Given the description of an element on the screen output the (x, y) to click on. 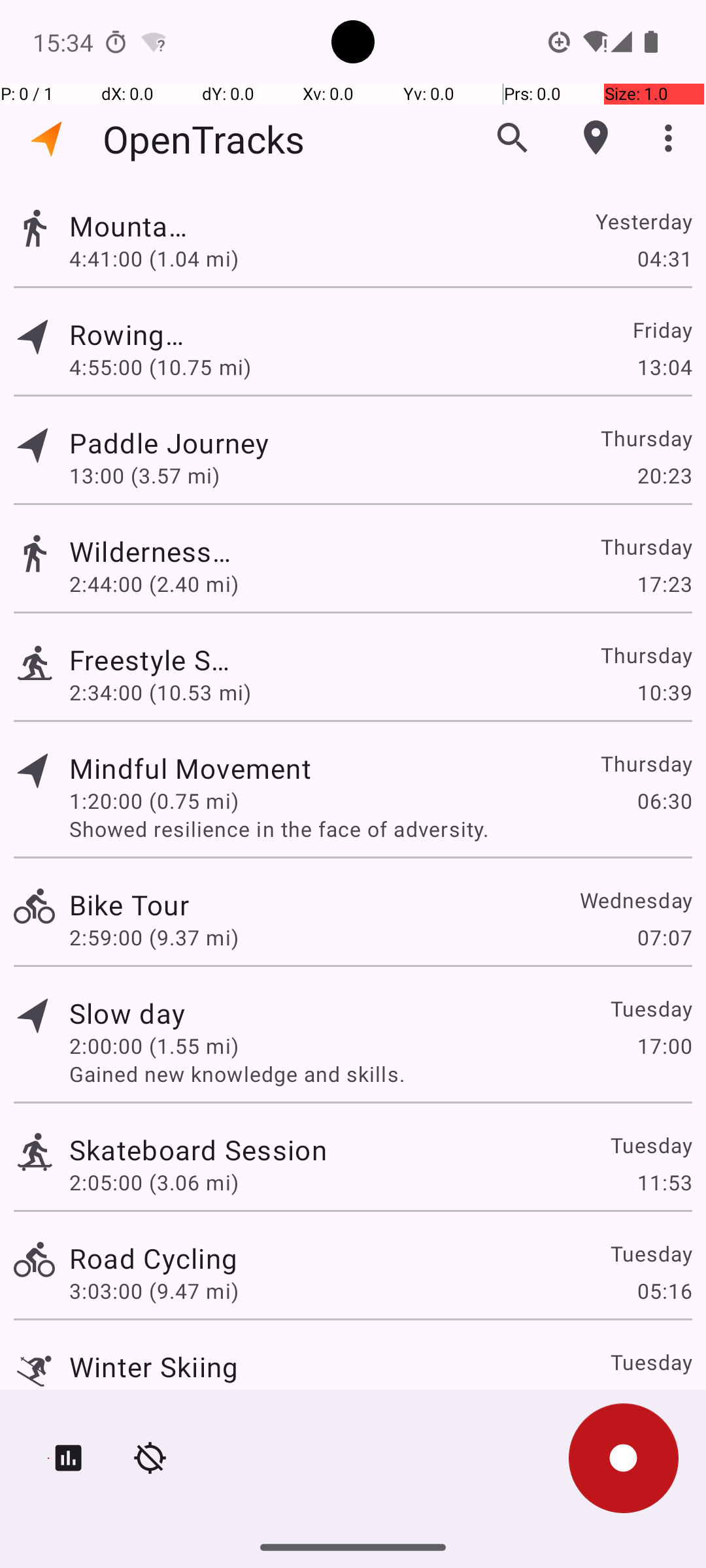
Mountain Trek Element type: android.widget.TextView (128, 225)
4:41:00 (1.04 mi) Element type: android.widget.TextView (153, 258)
04:31 Element type: android.widget.TextView (664, 258)
Rowing Excursion Element type: android.widget.TextView (126, 333)
4:55:00 (10.75 mi) Element type: android.widget.TextView (159, 366)
13:04 Element type: android.widget.TextView (664, 366)
13:00 (3.57 mi) Element type: android.widget.TextView (153, 475)
20:23 Element type: android.widget.TextView (664, 475)
Wilderness Hike Element type: android.widget.TextView (152, 550)
2:44:00 (2.40 mi) Element type: android.widget.TextView (153, 583)
17:23 Element type: android.widget.TextView (664, 583)
Freestyle Session Element type: android.widget.TextView (153, 659)
2:34:00 (10.53 mi) Element type: android.widget.TextView (159, 692)
10:39 Element type: android.widget.TextView (664, 692)
Mindful Movement Element type: android.widget.TextView (189, 767)
1:20:00 (0.75 mi) Element type: android.widget.TextView (153, 800)
06:30 Element type: android.widget.TextView (664, 800)
Showed resilience in the face of adversity. Element type: android.widget.TextView (380, 828)
Bike Tour Element type: android.widget.TextView (128, 904)
2:59:00 (9.37 mi) Element type: android.widget.TextView (153, 937)
07:07 Element type: android.widget.TextView (664, 937)
Slow day Element type: android.widget.TextView (126, 1012)
2:00:00 (1.55 mi) Element type: android.widget.TextView (153, 1045)
Gained new knowledge and skills. Element type: android.widget.TextView (380, 1073)
Skateboard Session Element type: android.widget.TextView (197, 1149)
2:05:00 (3.06 mi) Element type: android.widget.TextView (153, 1182)
11:53 Element type: android.widget.TextView (664, 1182)
3:03:00 (9.47 mi) Element type: android.widget.TextView (153, 1290)
05:16 Element type: android.widget.TextView (664, 1290)
Winter Skiing Element type: android.widget.TextView (153, 1366)
1:12:00 (9.82 mi) Element type: android.widget.TextView (153, 1399)
04:25 Element type: android.widget.TextView (664, 1399)
